Given the description of an element on the screen output the (x, y) to click on. 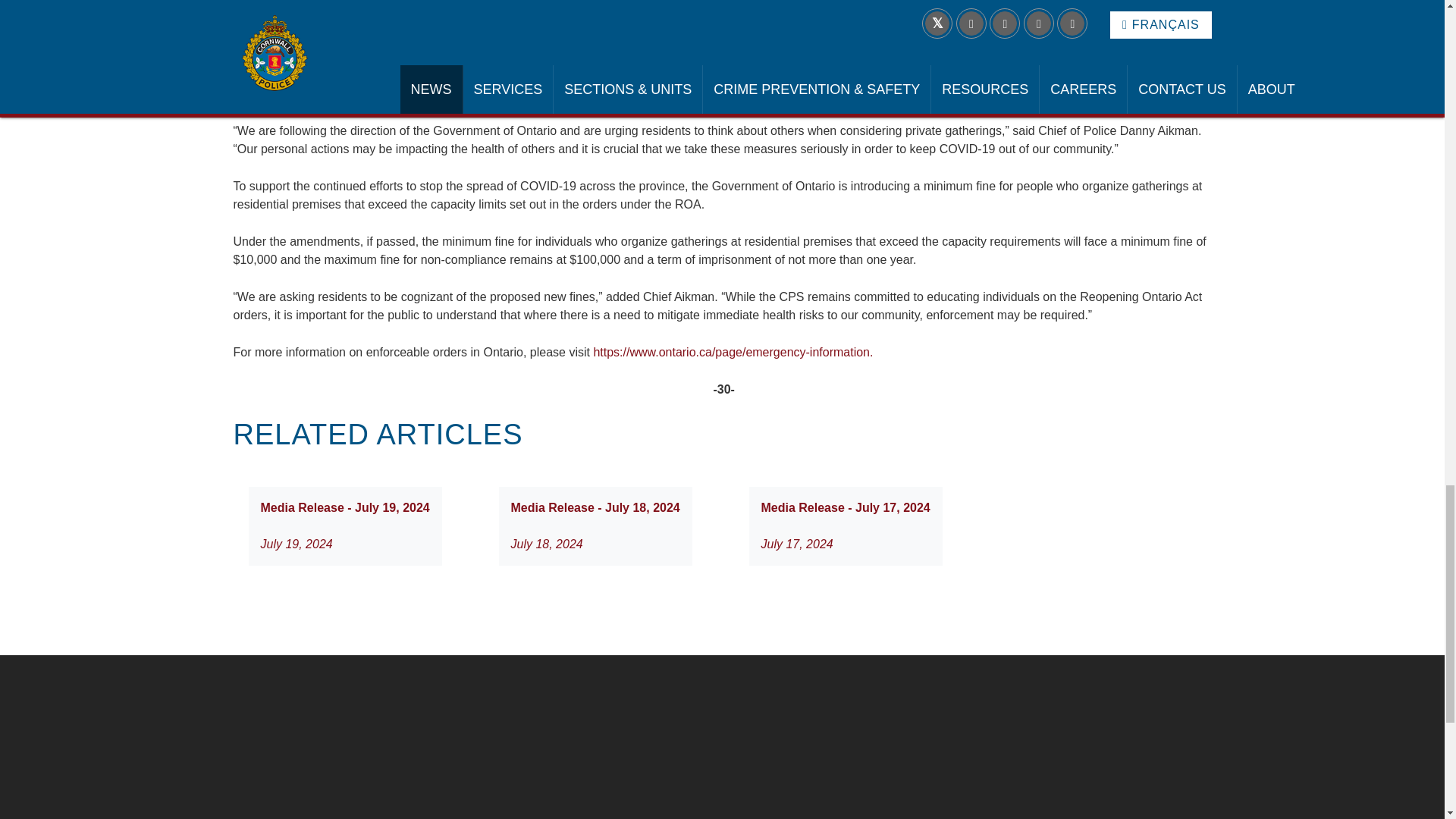
Ontario emergency information (732, 351)
